Given the description of an element on the screen output the (x, y) to click on. 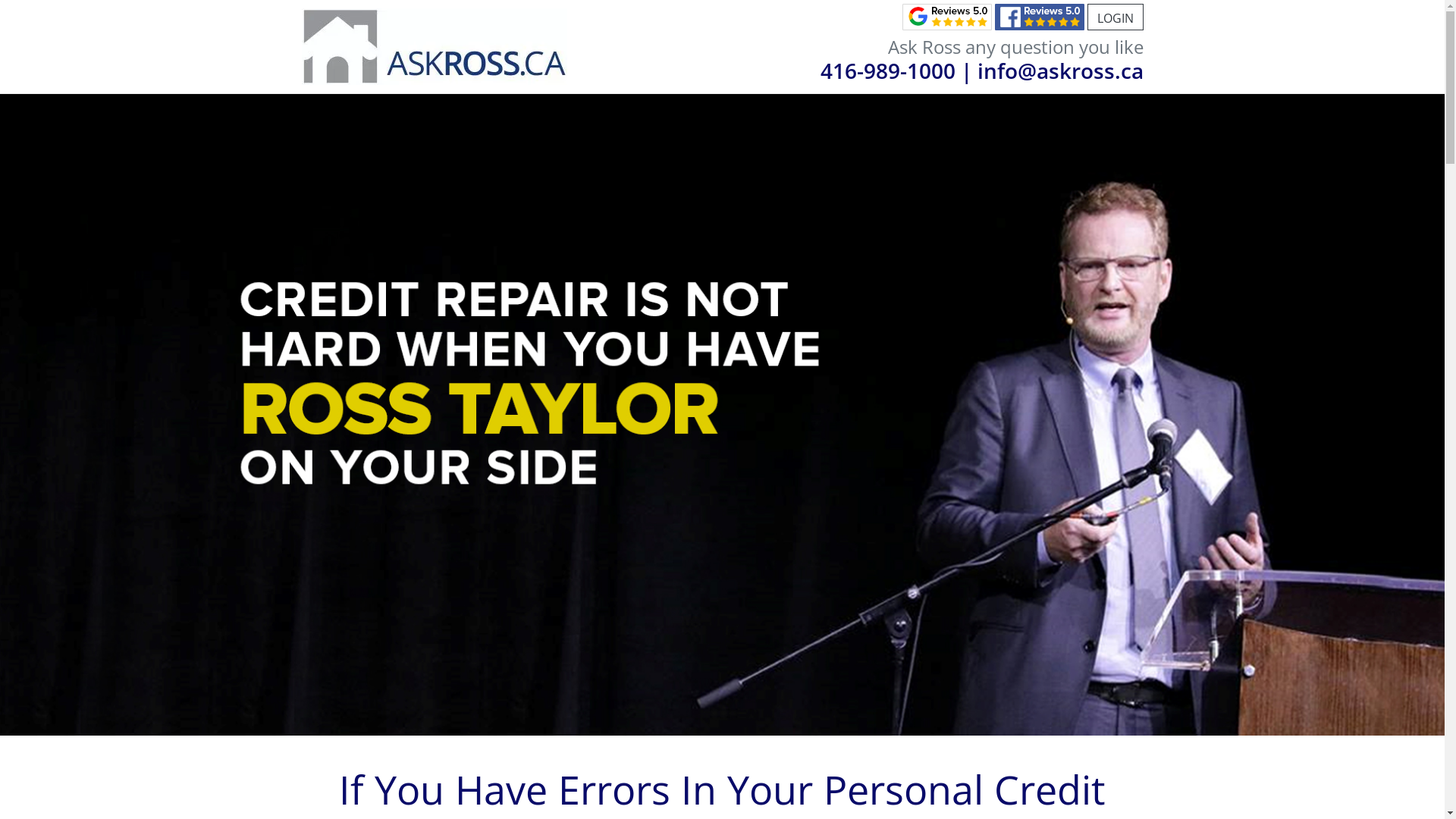
info@askross.ca Element type: text (1059, 70)
416-989-1000 Element type: text (887, 70)
LOGIN Element type: text (1115, 16)
